Given the description of an element on the screen output the (x, y) to click on. 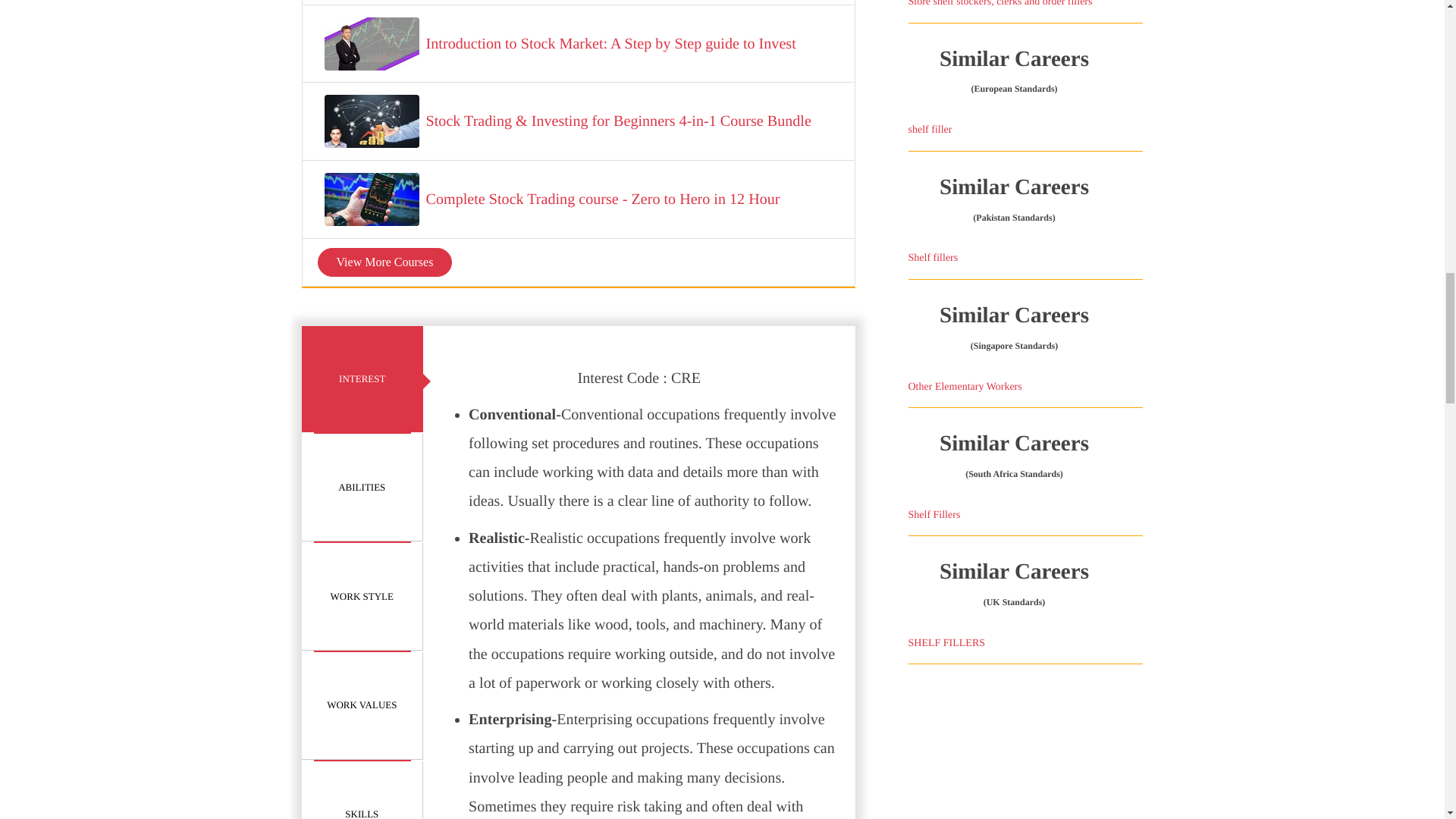
View More Courses (384, 262)
INTEREST (362, 379)
Complete Stock Trading course - Zero to Hero in 12 Hour (603, 199)
Introduction to Stock Market: A Step by Step guide to Invest (611, 43)
